Given the description of an element on the screen output the (x, y) to click on. 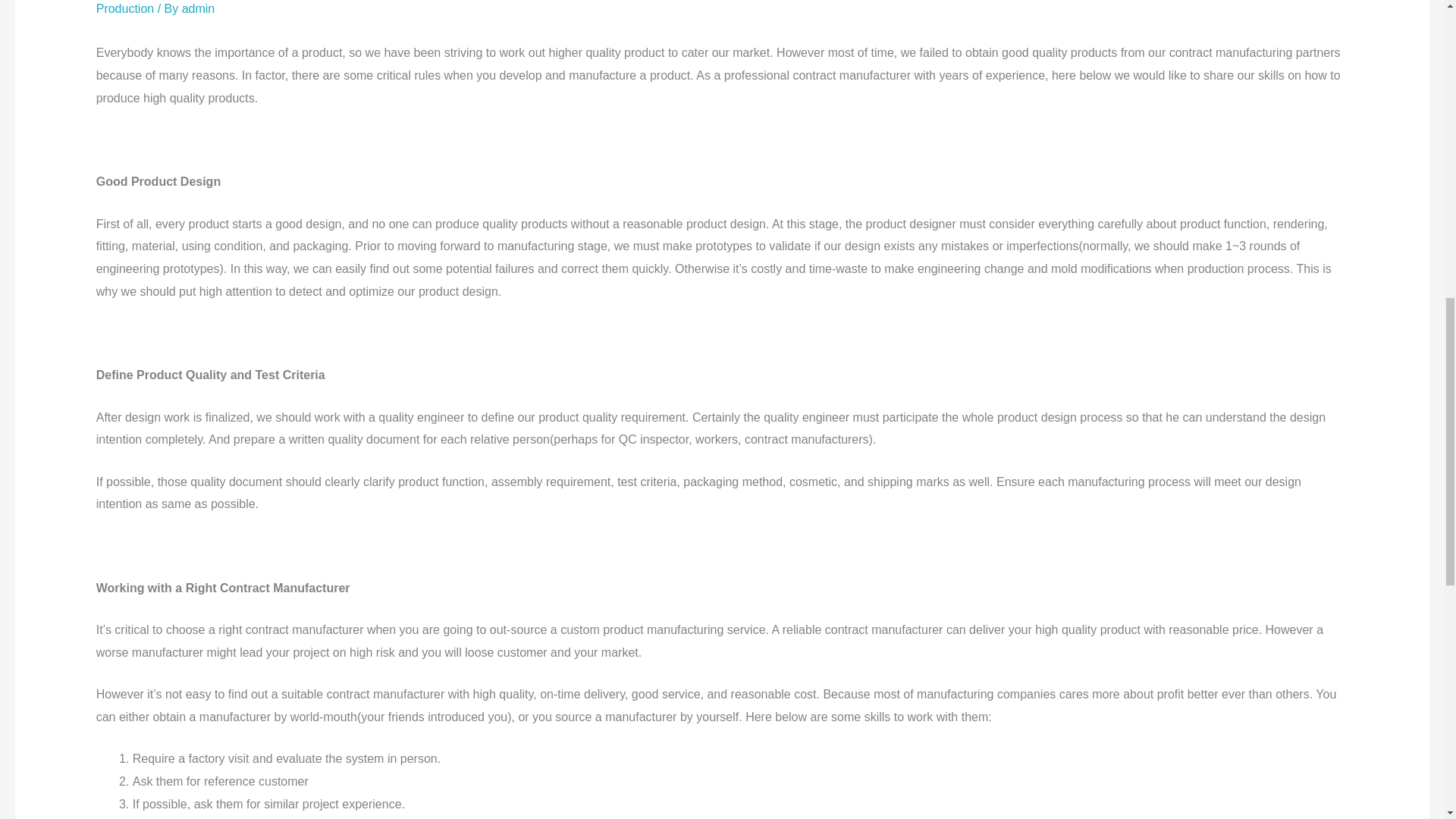
View all posts by admin (198, 8)
Production (125, 8)
admin (198, 8)
